Given the description of an element on the screen output the (x, y) to click on. 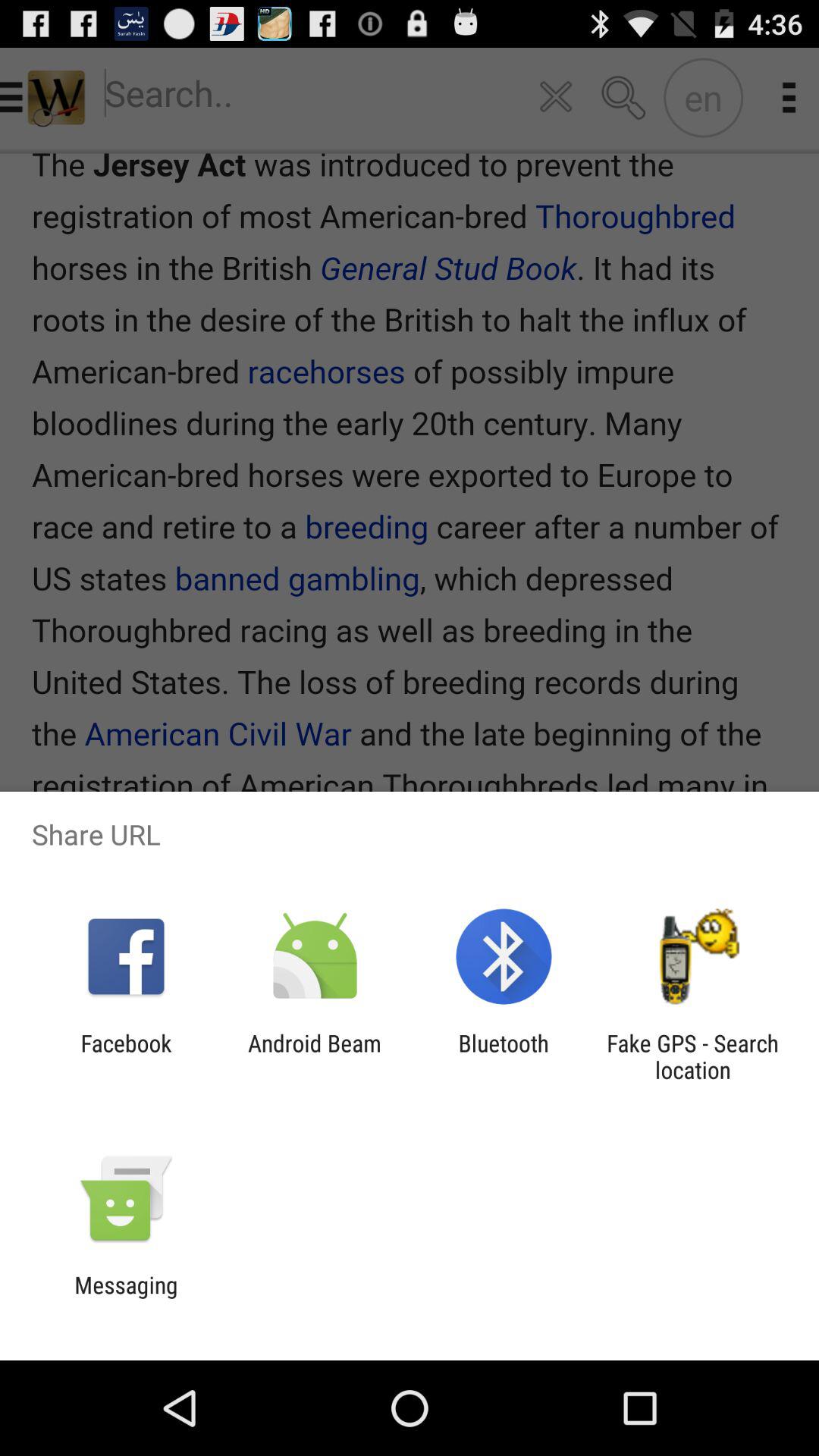
tap item to the right of the facebook app (314, 1056)
